Given the description of an element on the screen output the (x, y) to click on. 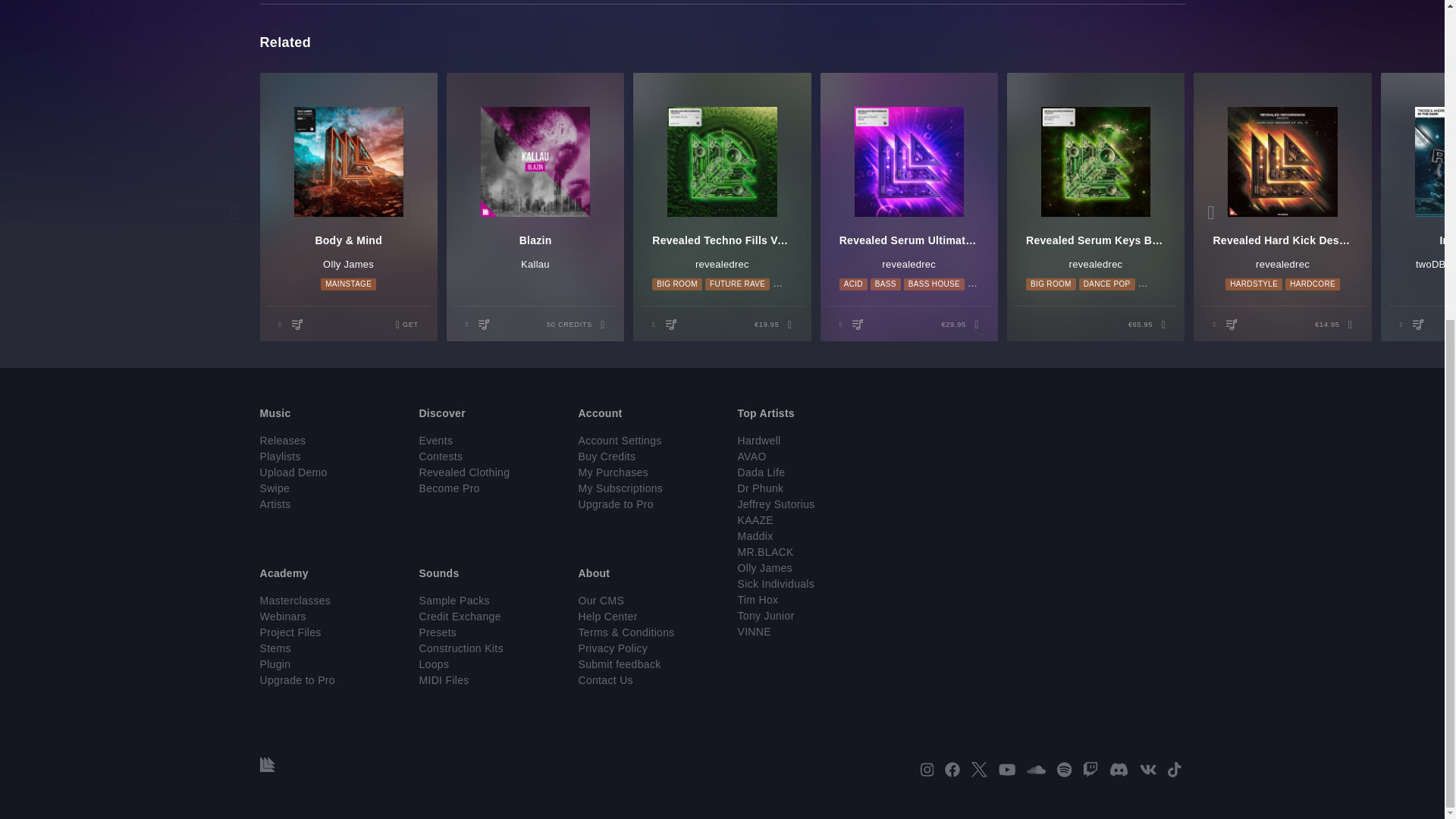
ADD TO PLAYLIST (859, 323)
ADD TO PLAYLIST (299, 323)
ADD TO PLAYLIST (485, 323)
ADD TO PLAYLIST (1420, 323)
ADD TO PLAYLIST (1233, 323)
ADD TO PLAYLIST (673, 323)
